Given the description of an element on the screen output the (x, y) to click on. 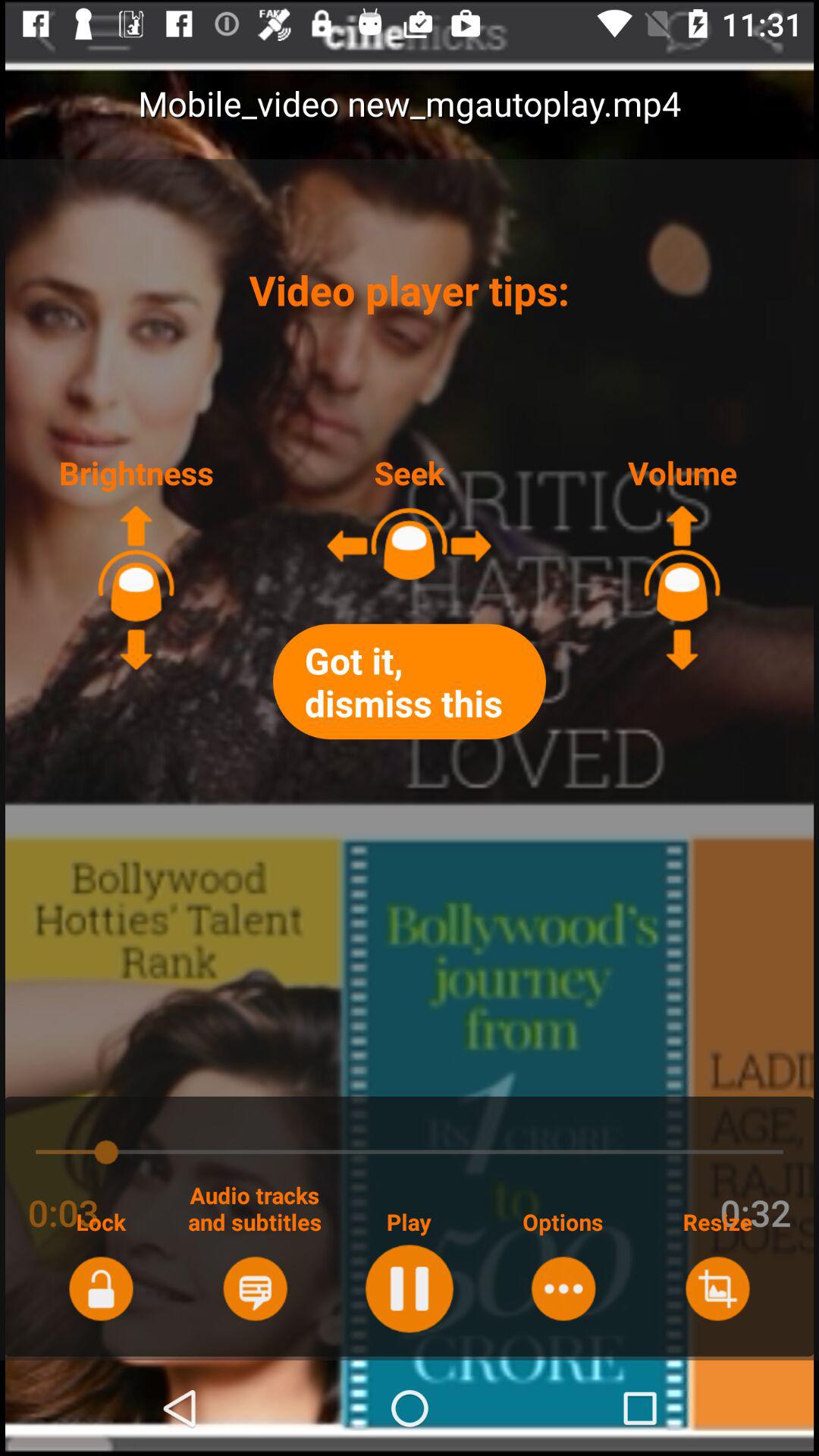
toggle pause/play (409, 1288)
